Given the description of an element on the screen output the (x, y) to click on. 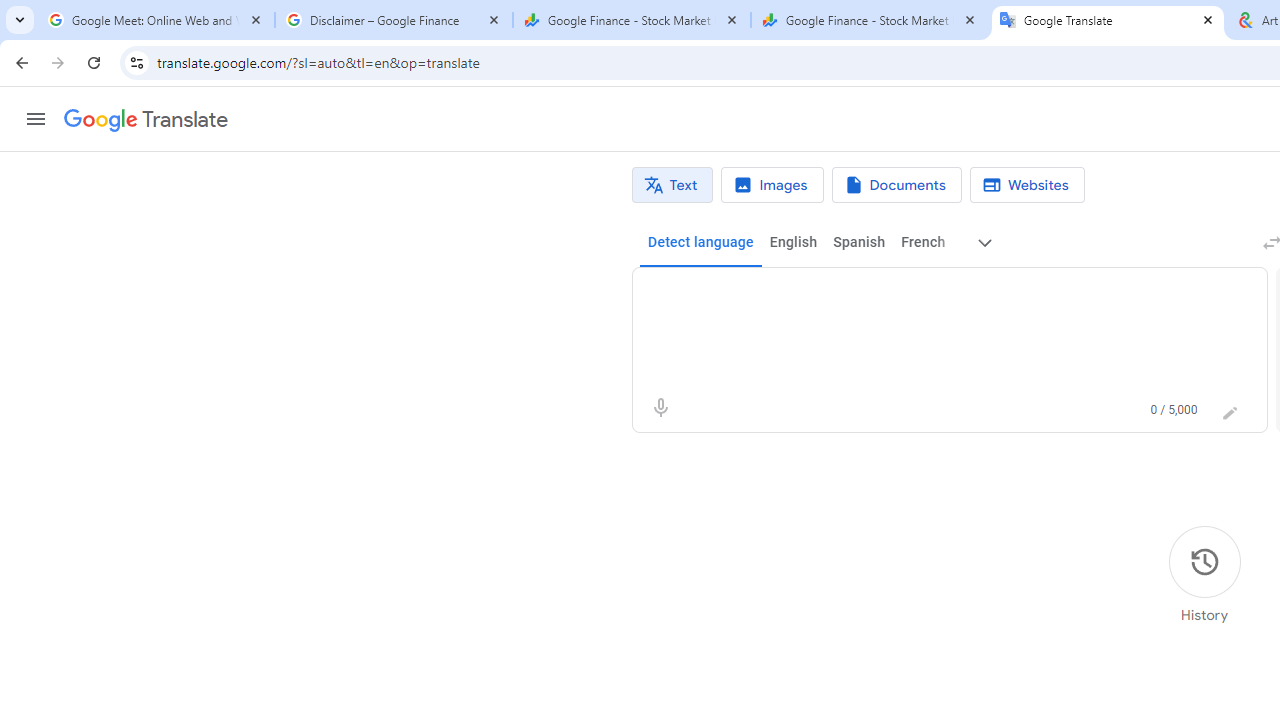
More source languages (985, 242)
Detect language (699, 242)
Google Translate (1108, 20)
History (1204, 575)
Spanish (858, 242)
Website translation (1026, 185)
Main menu (35, 119)
Translate by voice (660, 407)
